Given the description of an element on the screen output the (x, y) to click on. 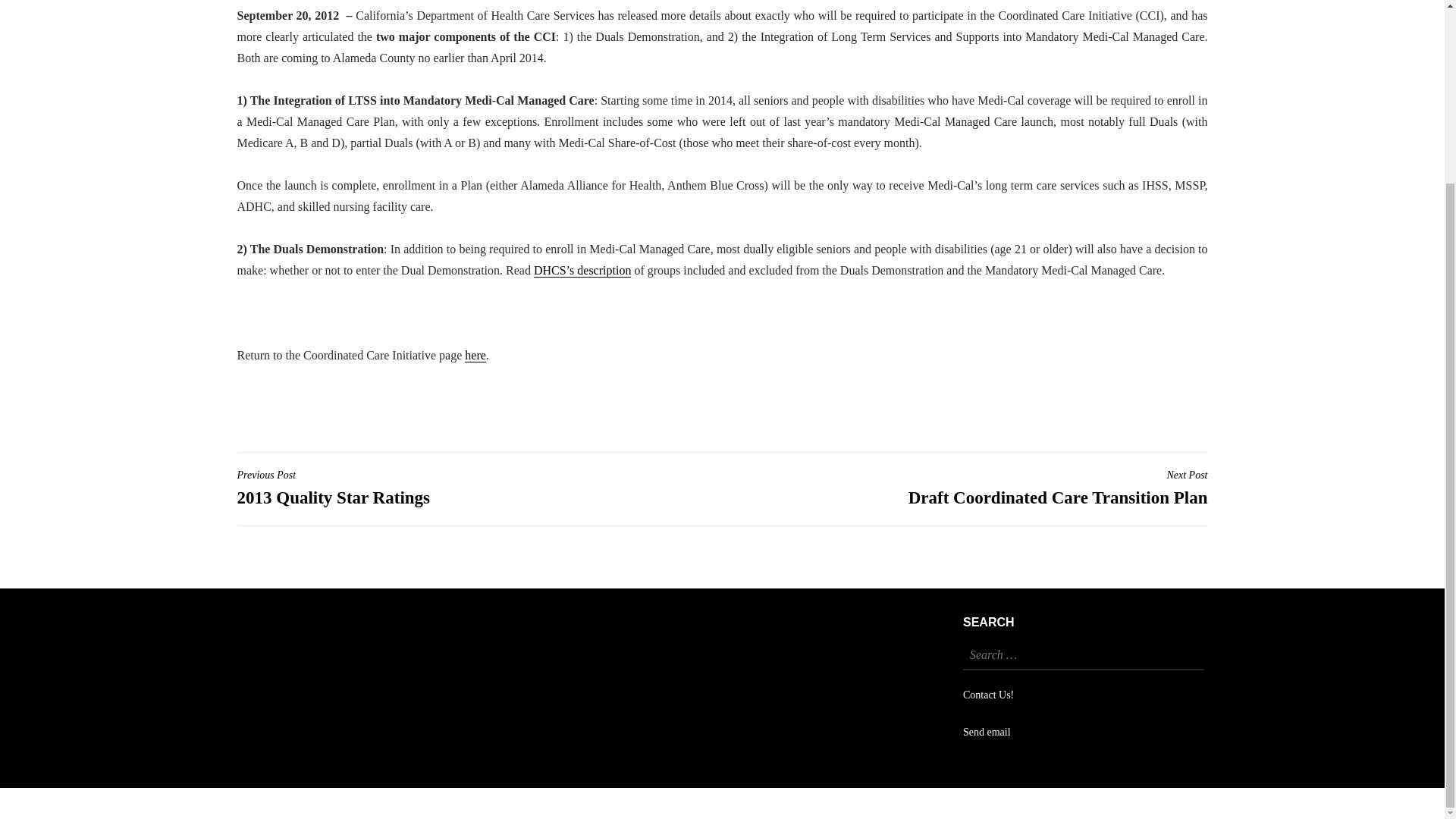
here (475, 355)
Send email (986, 731)
